Given the description of an element on the screen output the (x, y) to click on. 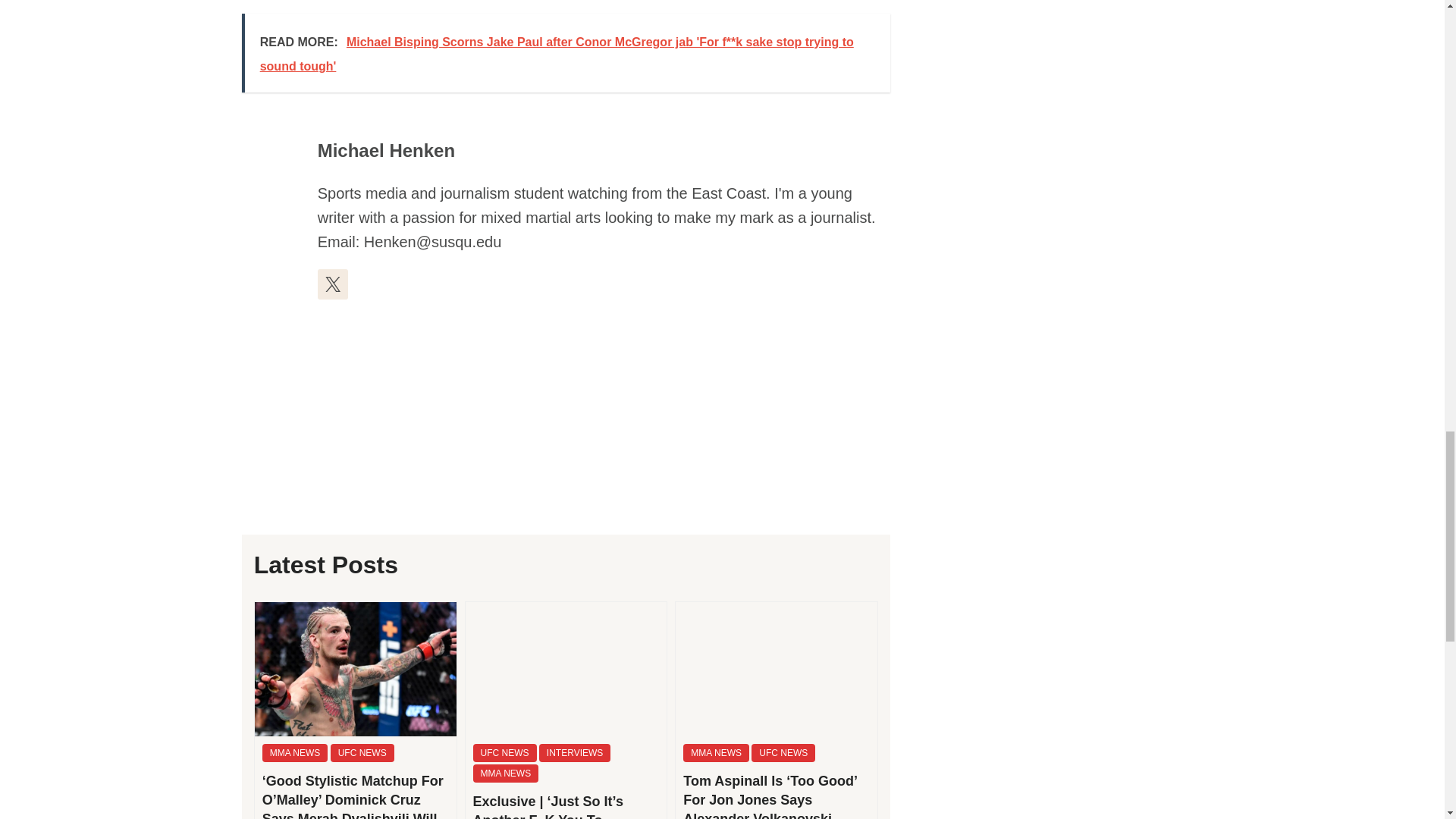
Follow Michael Henken on X formerly Twitter (332, 284)
Posts by Michael Henken (385, 150)
